Given the description of an element on the screen output the (x, y) to click on. 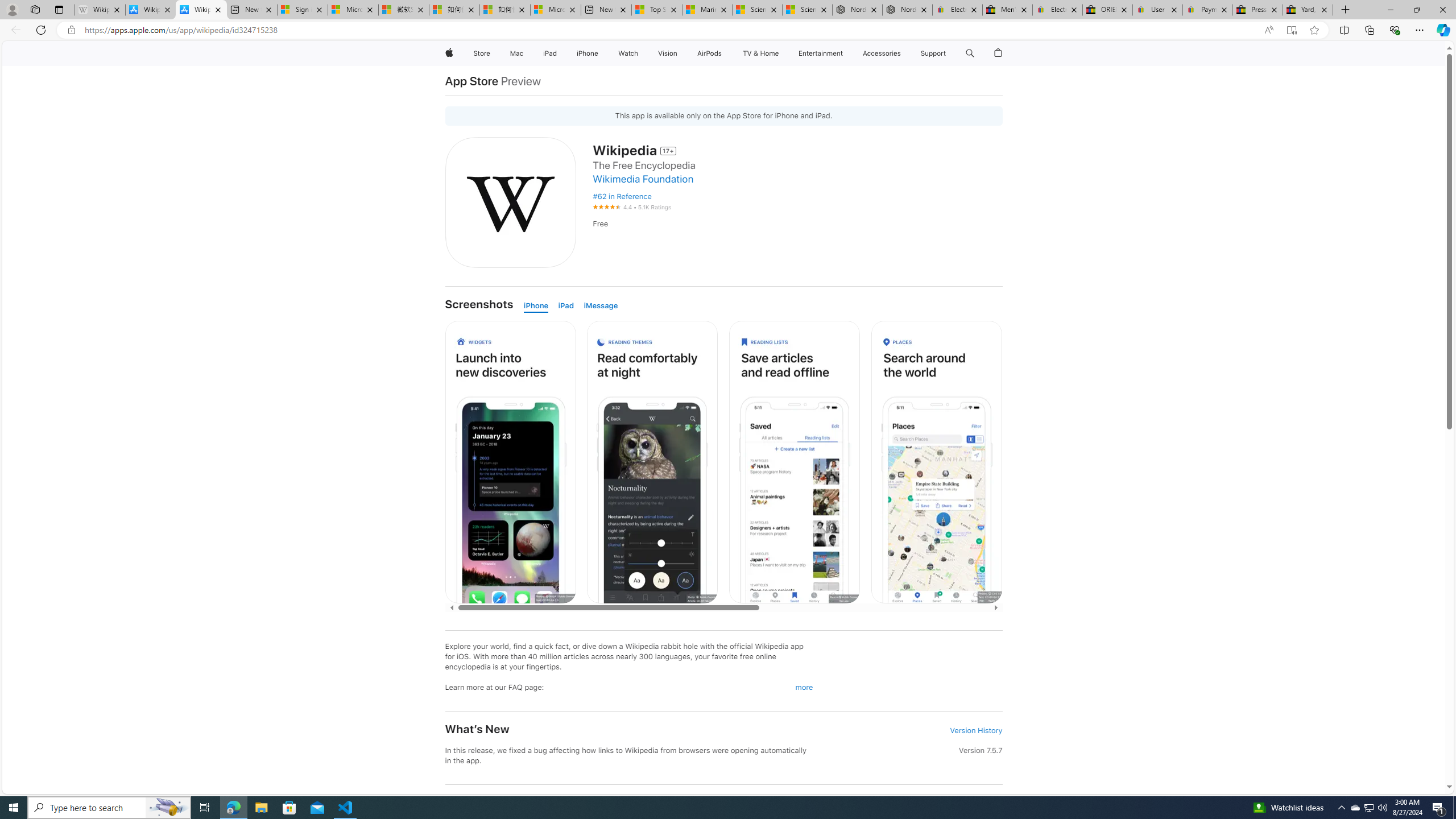
Mac (516, 53)
Vision menu (678, 53)
Vision (667, 53)
iMessage (600, 305)
AirPods menu (723, 53)
App Store (471, 80)
#62 in Reference (622, 196)
iPad (565, 305)
Payments Terms of Use | eBay.com (1207, 9)
Free (797, 223)
TV and Home menu (780, 53)
Store (481, 53)
